Given the description of an element on the screen output the (x, y) to click on. 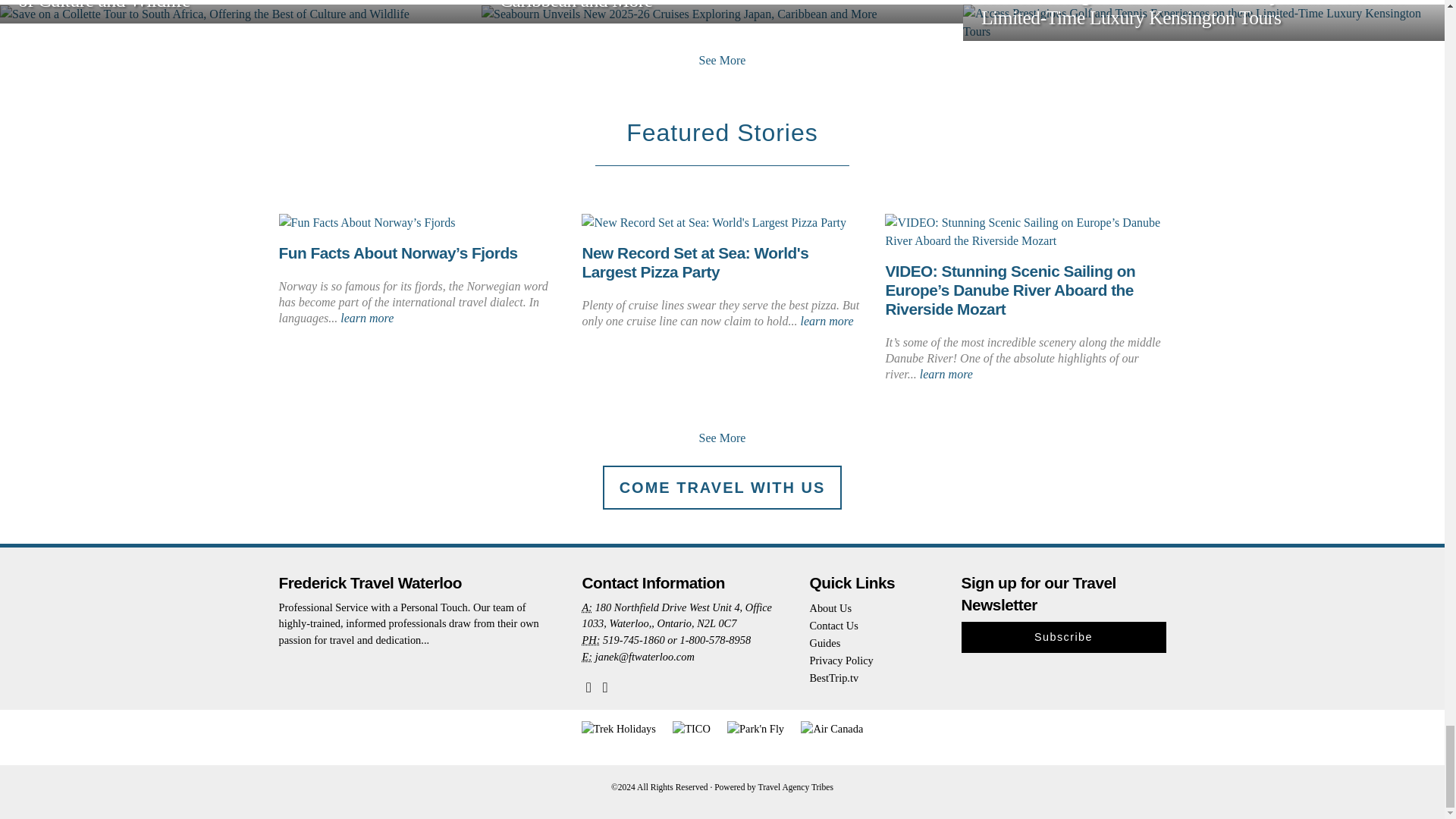
learn more (826, 320)
learn more (946, 373)
See More (721, 60)
See More (721, 437)
learn more (366, 318)
New Record Set at Sea: World's Largest Pizza Party (694, 262)
Phone (589, 639)
